Given the description of an element on the screen output the (x, y) to click on. 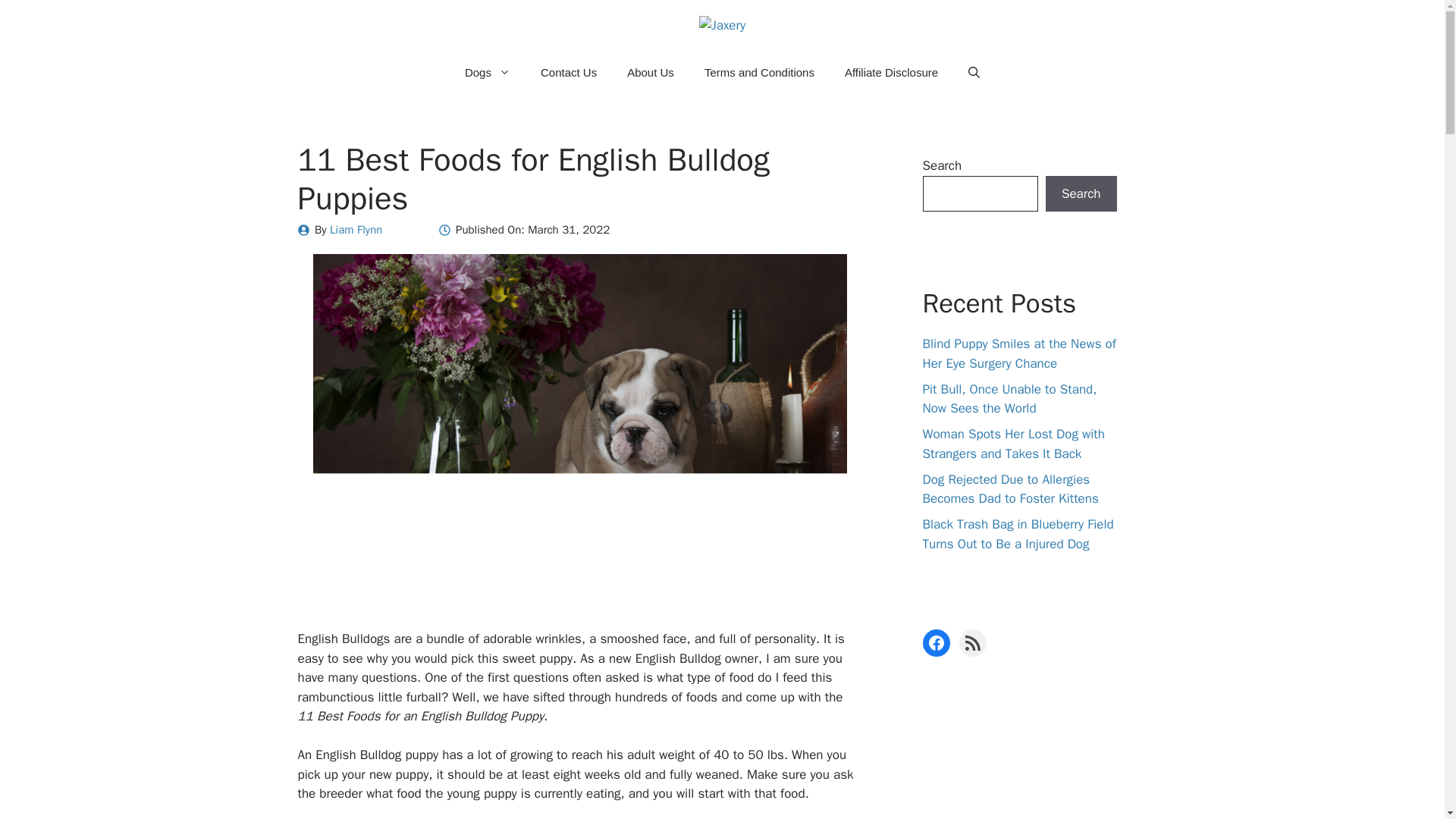
About Us (649, 72)
Pit Bull, Once Unable to Stand, Now Sees the World (1008, 398)
Blind Puppy Smiles at the News of Her Eye Surgery Chance (1018, 353)
Affiliate Disclosure (891, 72)
Terms and Conditions (758, 72)
Dogs (487, 72)
Search (1080, 194)
Liam Flynn (355, 229)
Contact Us (568, 72)
